Given the description of an element on the screen output the (x, y) to click on. 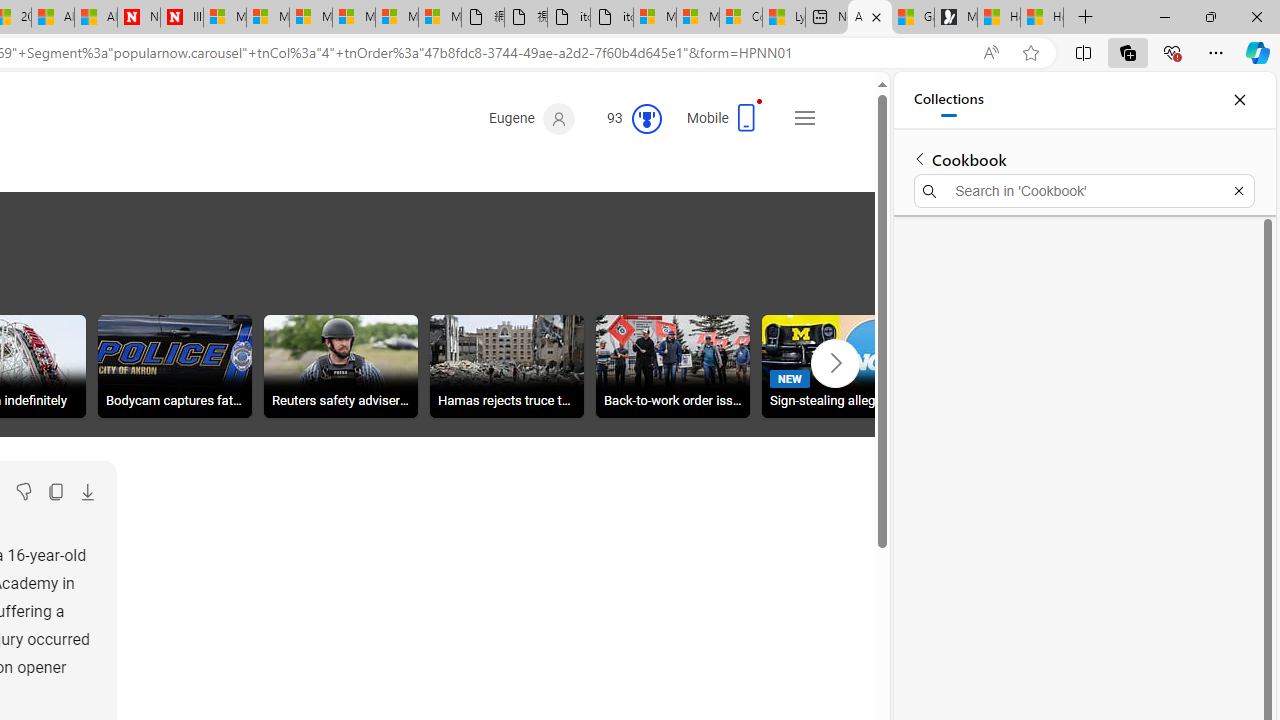
Settings and quick links (804, 117)
Bodycam captures fatal shot (175, 365)
Microsoft Rewards 93 (626, 119)
Exit search (1238, 190)
Bodycam captures fatal shot (175, 369)
Back-to-work order issued (673, 365)
Eugene (531, 119)
Consumer Health Data Privacy Policy (740, 17)
